Given the description of an element on the screen output the (x, y) to click on. 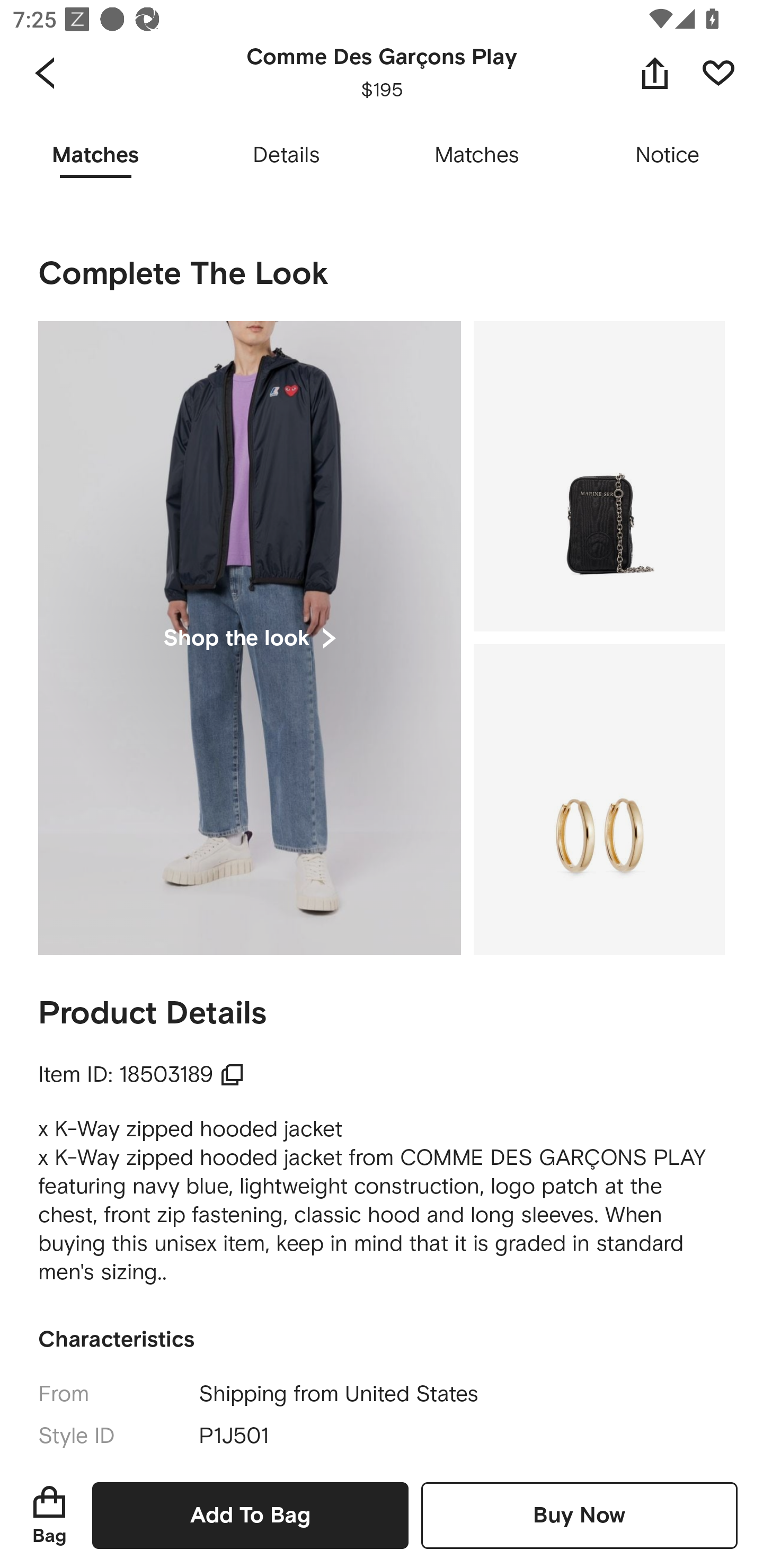
Details (285, 155)
Matches (476, 155)
Notice (667, 155)
Item ID: 18503189 (141, 1074)
Bag (49, 1515)
Add To Bag (250, 1515)
Buy Now (579, 1515)
